Given the description of an element on the screen output the (x, y) to click on. 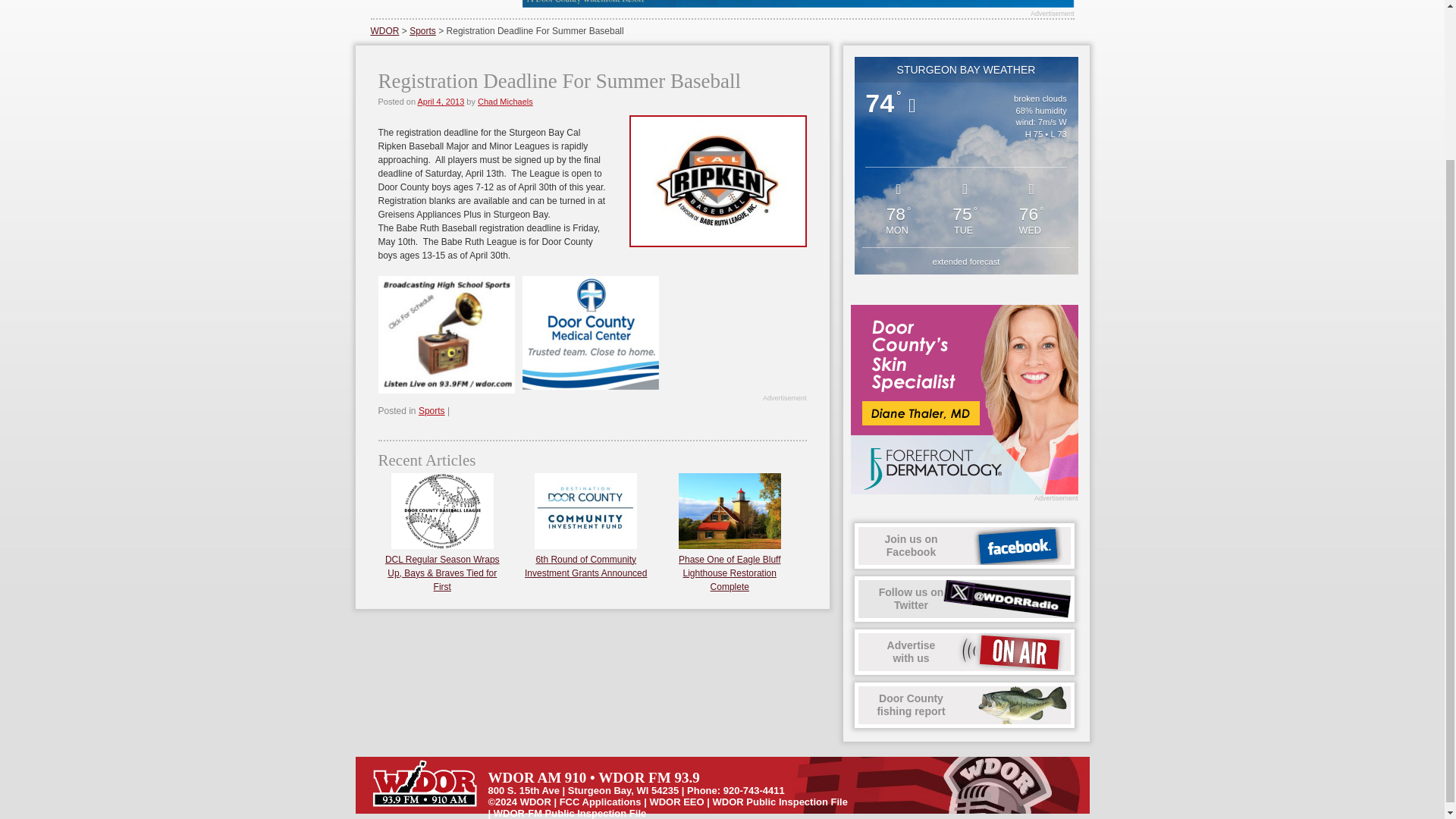
Go to the Sports category archives. (422, 30)
WDOR (383, 30)
Chad Michaels (504, 101)
DCMC (964, 704)
WDOR (589, 332)
calripken (964, 598)
Sports (535, 801)
